Given the description of an element on the screen output the (x, y) to click on. 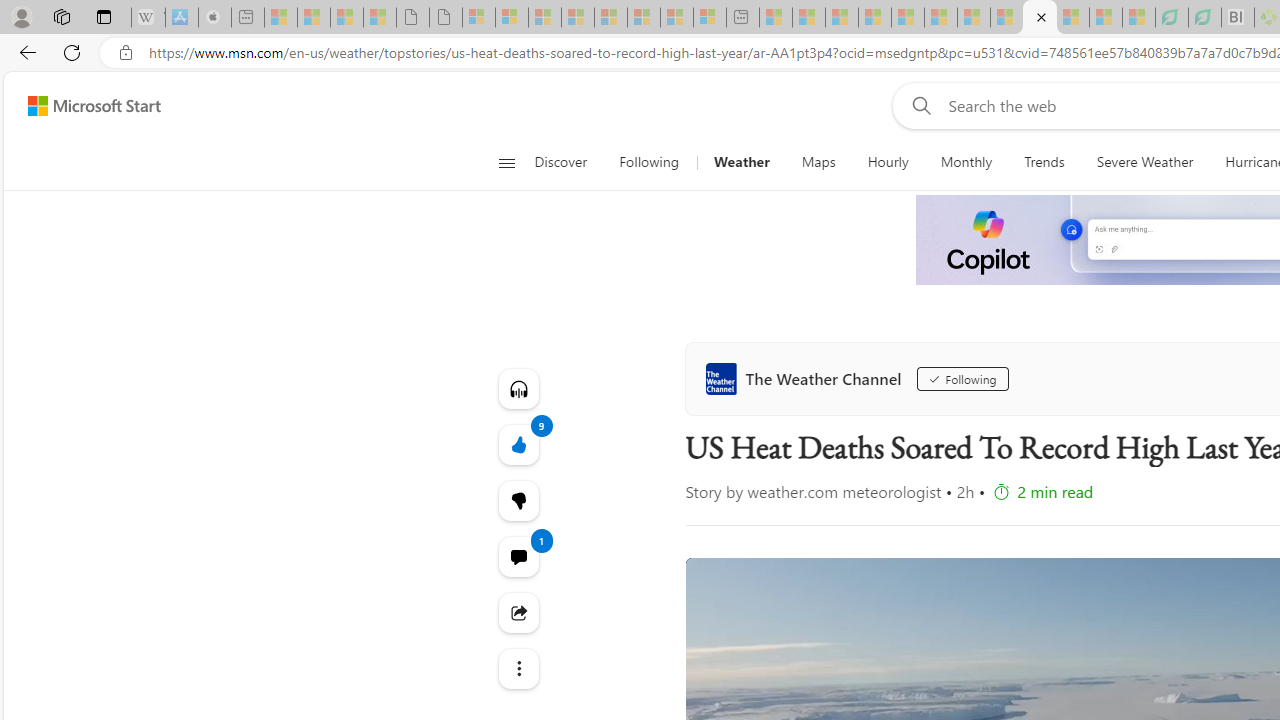
9 Like (517, 444)
Sign in to your Microsoft account - Sleeping (479, 17)
View comments 1 Comment (517, 556)
Share this story (517, 612)
LendingTree - Compare Lenders - Sleeping (1205, 17)
Microsoft Services Agreement - Sleeping (511, 17)
Open navigation menu (506, 162)
